Given the description of an element on the screen output the (x, y) to click on. 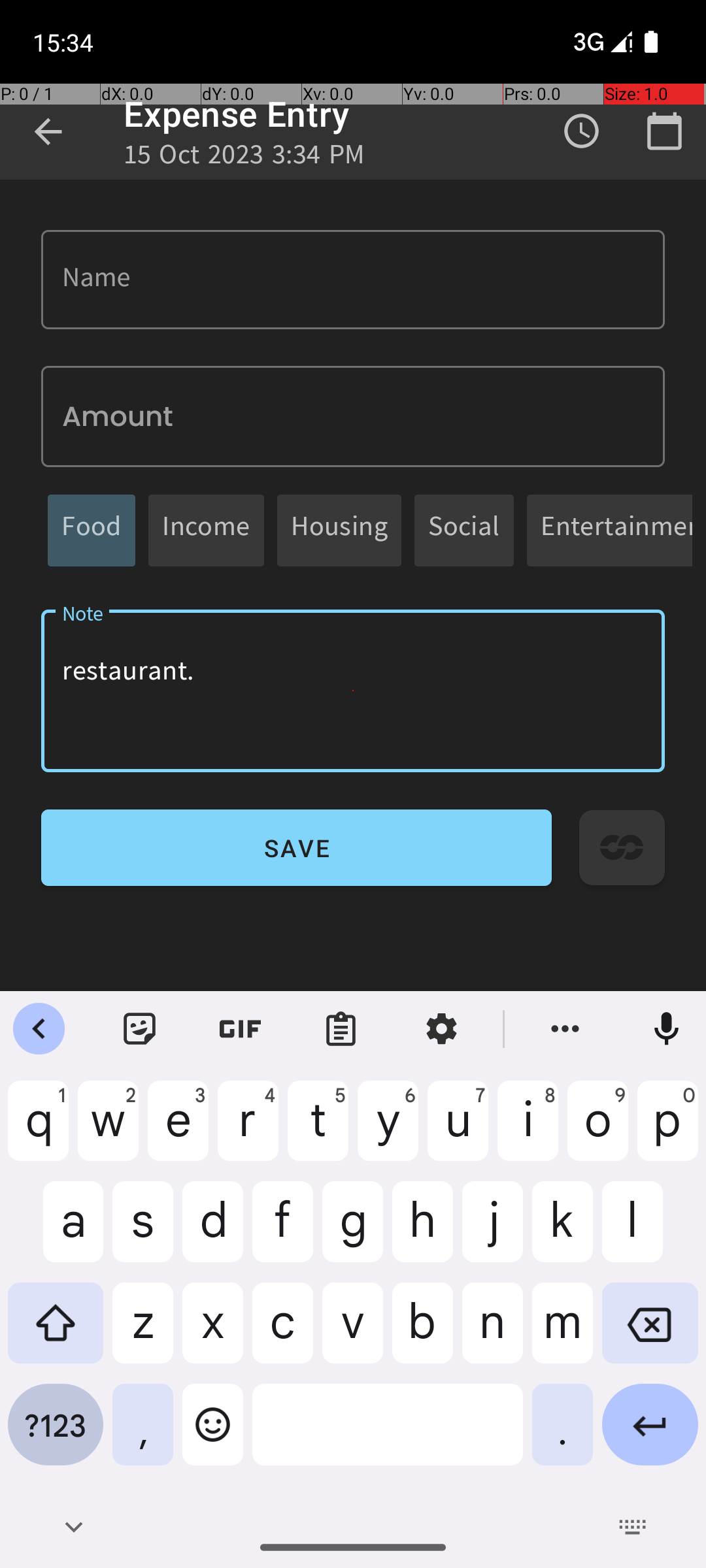
Name Element type: android.widget.EditText (352, 279)
Dinner with friends at the new Italian restaurant.
 Element type: android.widget.EditText (352, 690)
Close features menu Element type: android.widget.FrameLayout (39, 1028)
Sticker Keyboard Element type: android.widget.FrameLayout (139, 1028)
GIF Keyboard Element type: android.widget.FrameLayout (240, 1028)
Clipboard Element type: android.widget.FrameLayout (340, 1028)
More features Element type: android.widget.FrameLayout (565, 1028)
